Given the description of an element on the screen output the (x, y) to click on. 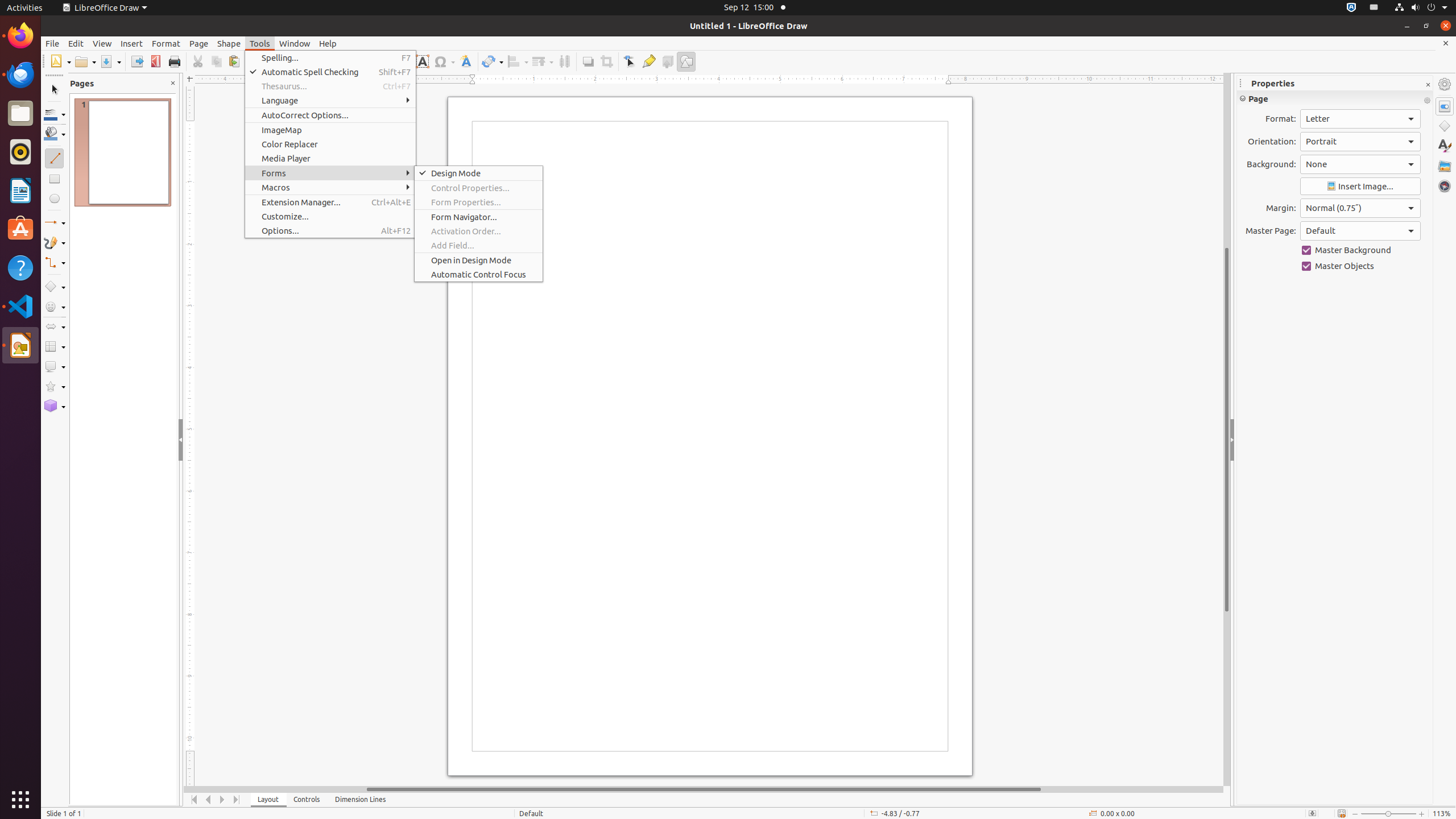
Edit Element type: menu (75, 43)
Language Element type: menu (330, 100)
Window Element type: menu (294, 43)
Close Sidebar Deck Element type: push-button (1427, 84)
Move To End Element type: push-button (236, 799)
